Given the description of an element on the screen output the (x, y) to click on. 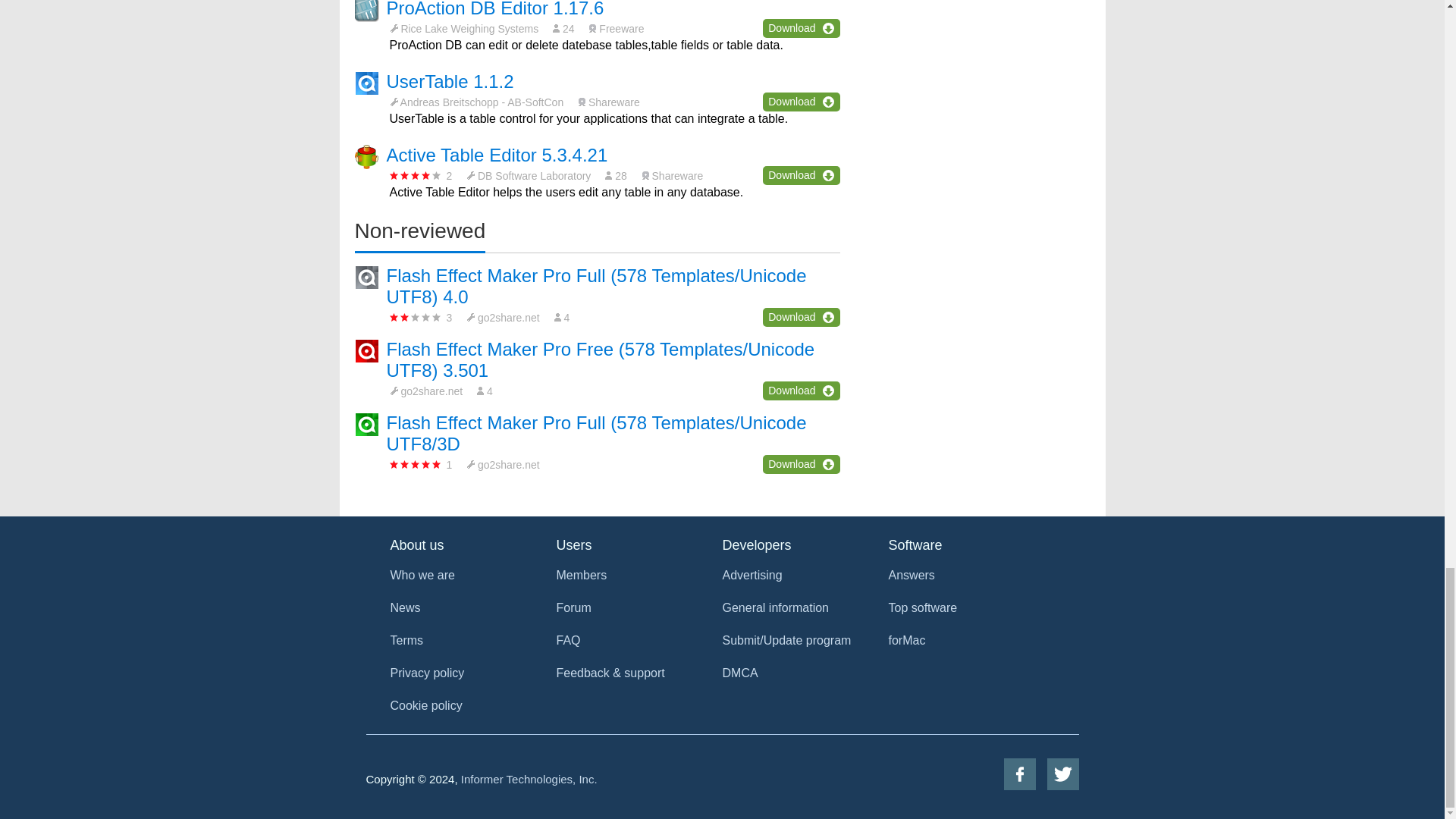
Download (801, 27)
ProAction DB Editor 1.17.6 (495, 9)
